Given the description of an element on the screen output the (x, y) to click on. 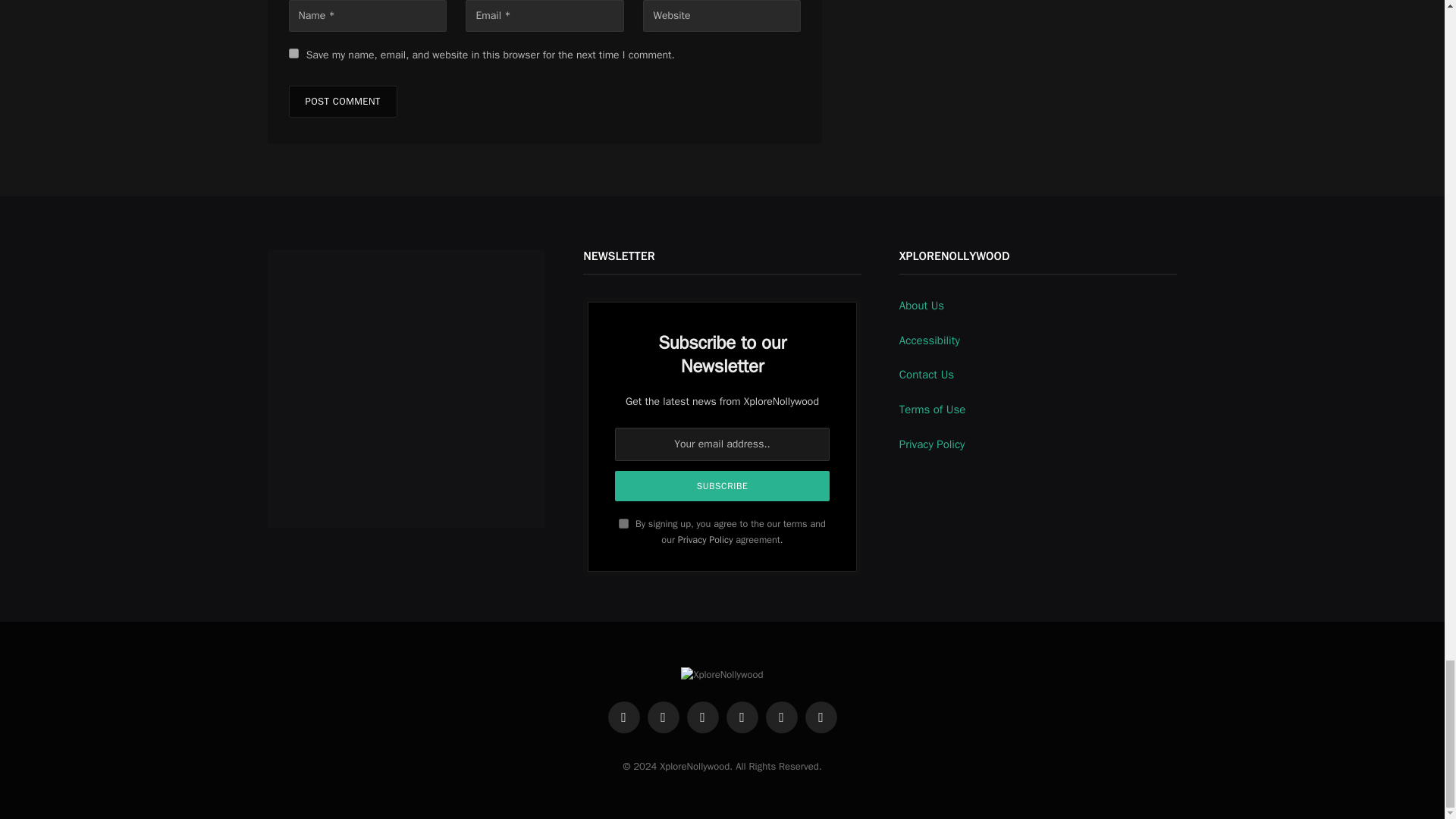
on (623, 523)
yes (293, 53)
Subscribe (721, 485)
Post Comment (342, 101)
